Given the description of an element on the screen output the (x, y) to click on. 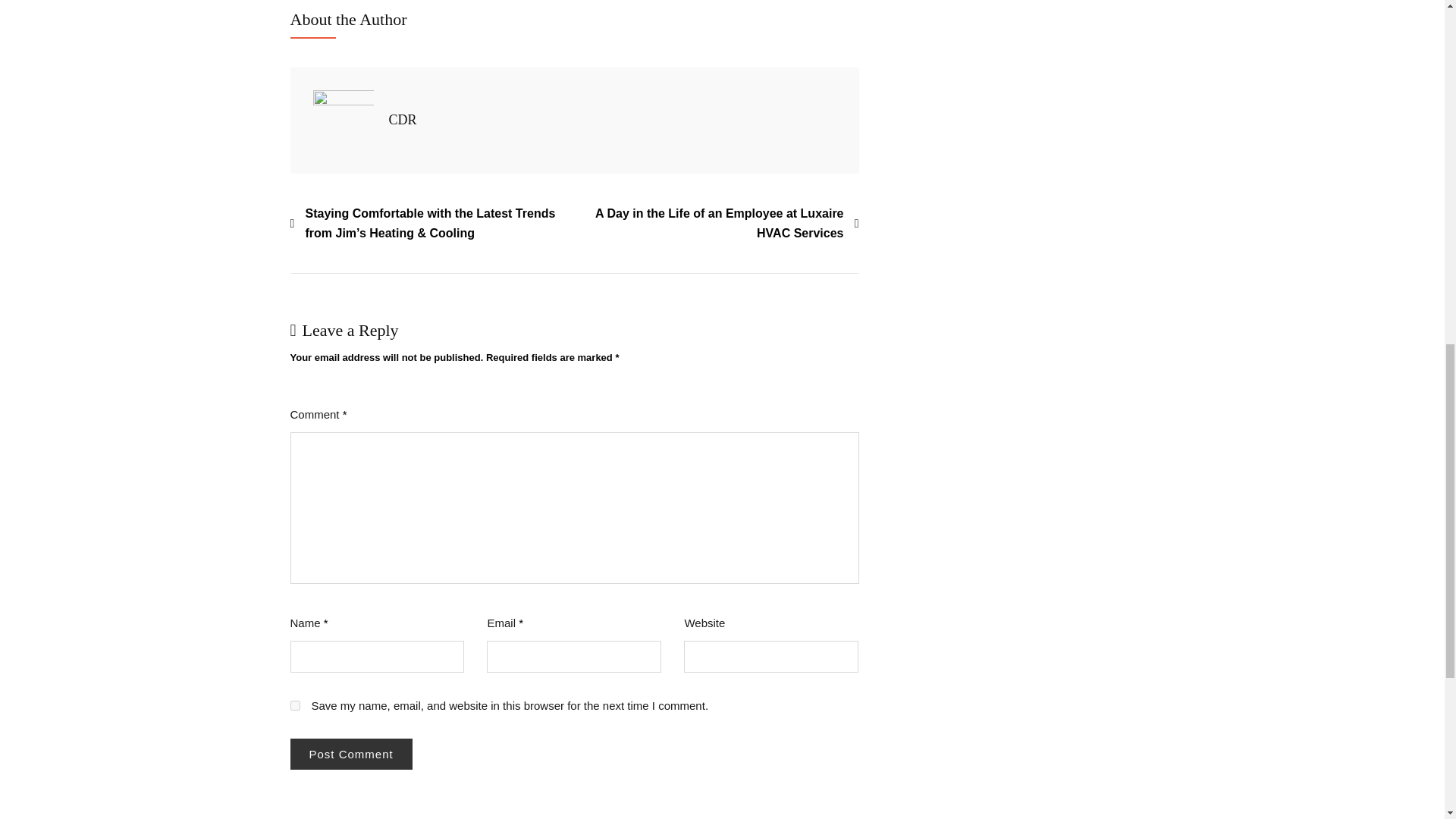
CDR (402, 119)
A Day in the Life of an Employee at Luxaire HVAC Services (717, 222)
yes (294, 705)
Post Comment (350, 753)
Post Comment (350, 753)
